Given the description of an element on the screen output the (x, y) to click on. 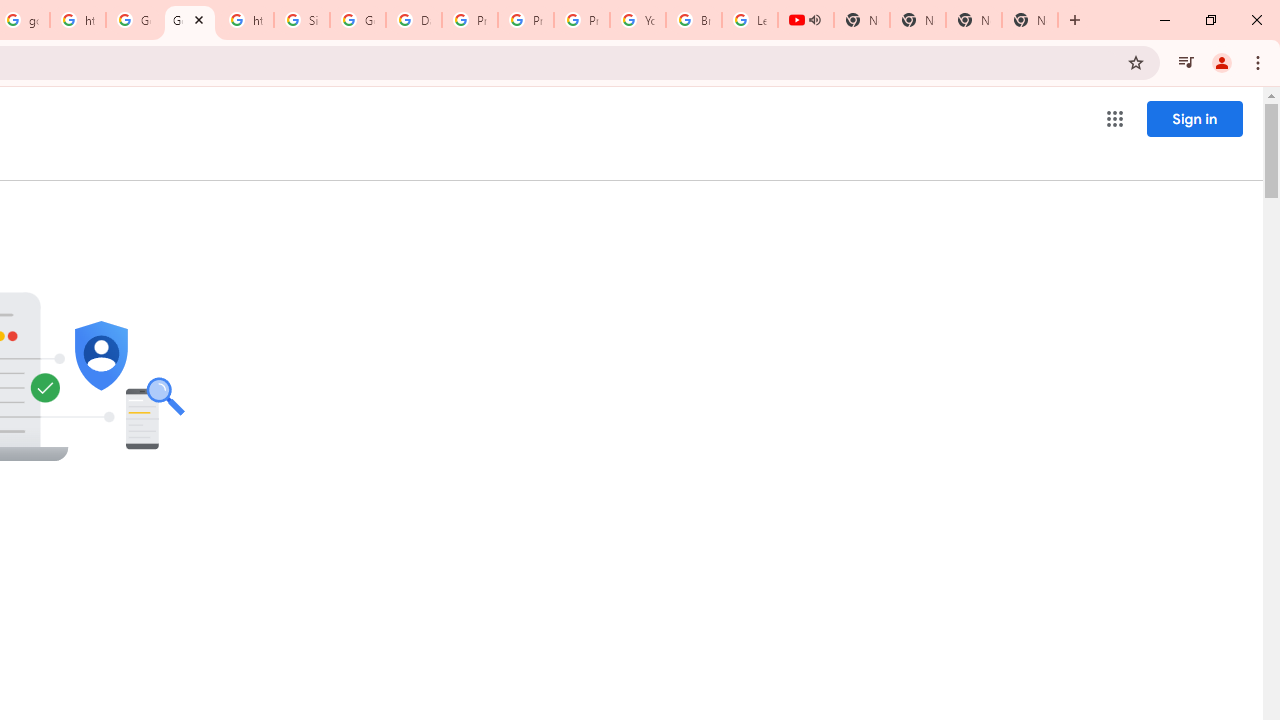
Mute tab (814, 20)
New Tab (1030, 20)
Privacy Help Center - Policies Help (525, 20)
YouTube (637, 20)
Google apps (1114, 118)
Sign in (1194, 118)
Sign in - Google Accounts (301, 20)
